Given the description of an element on the screen output the (x, y) to click on. 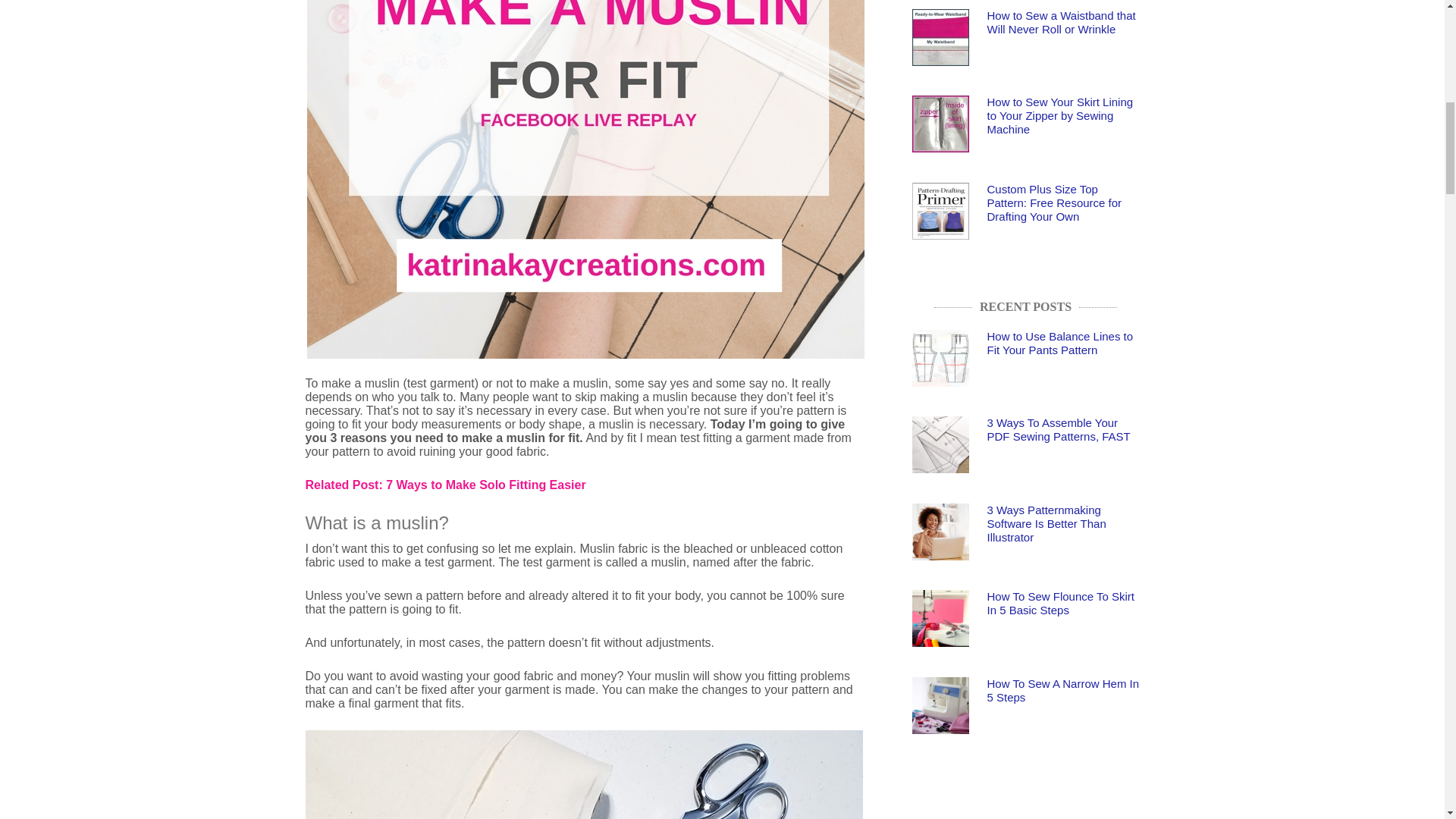
Related Post: 7 Ways to Make Solo Fitting Easier (444, 484)
